Given the description of an element on the screen output the (x, y) to click on. 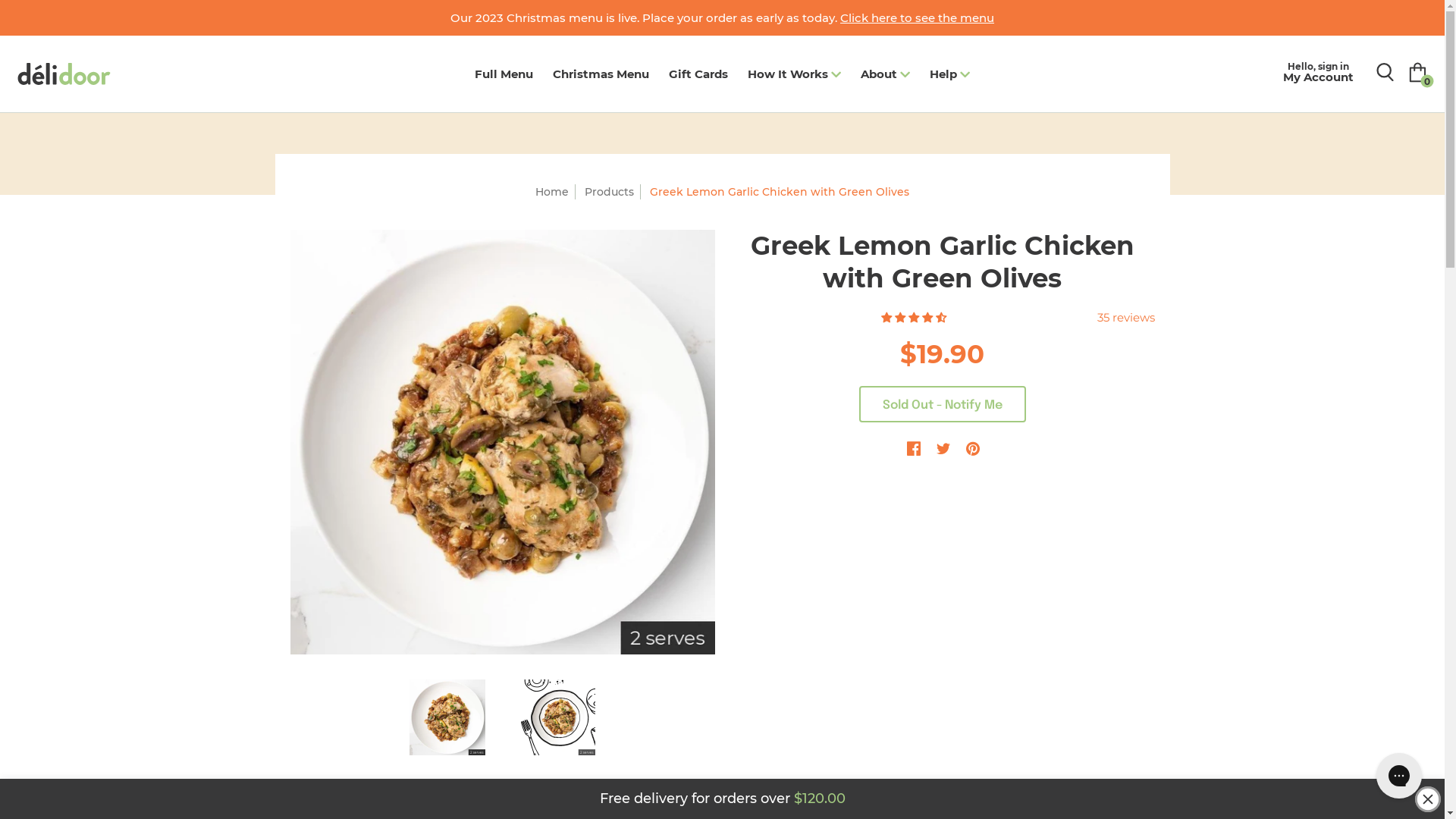
0 Element type: text (1417, 72)
Gorgias live chat messenger Element type: hover (1398, 775)
Search Element type: hover (1385, 71)
Products Element type: text (608, 191)
Full Menu Element type: text (503, 73)
How It Works Element type: text (794, 73)
Hello, sign in
My Account Element type: text (1317, 72)
Gift Cards Element type: text (698, 73)
Home Element type: text (551, 191)
Sold Out - Notify Me Element type: text (941, 403)
Help Element type: text (949, 73)
About Element type: text (885, 73)
Christmas Menu Element type: text (600, 73)
